Given the description of an element on the screen output the (x, y) to click on. 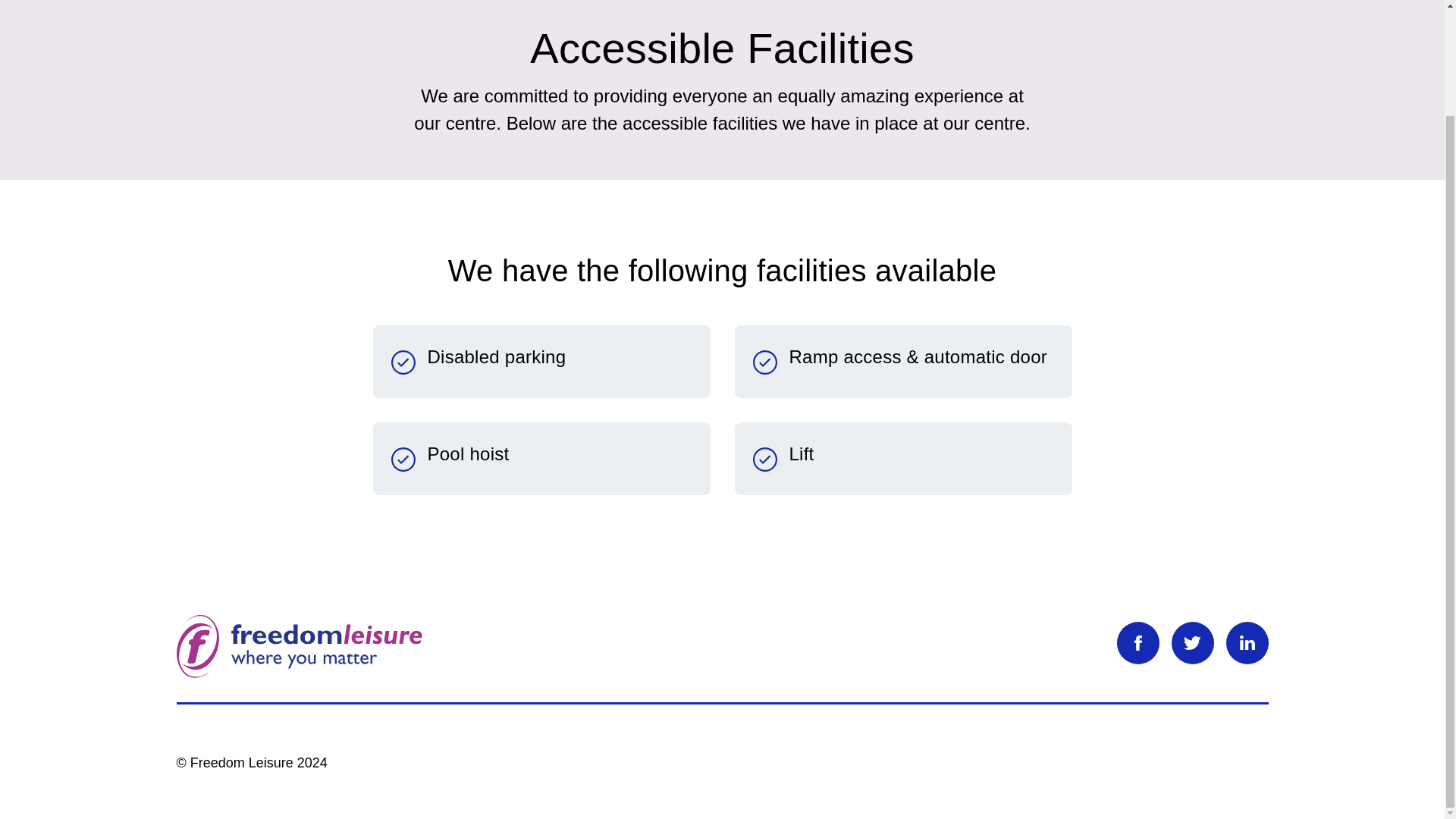
Home (151, 0)
Linkedin (1246, 642)
Twitter (1191, 642)
Freedom Leisure (299, 645)
Facebook (1137, 642)
Facilities (208, 0)
